Given the description of an element on the screen output the (x, y) to click on. 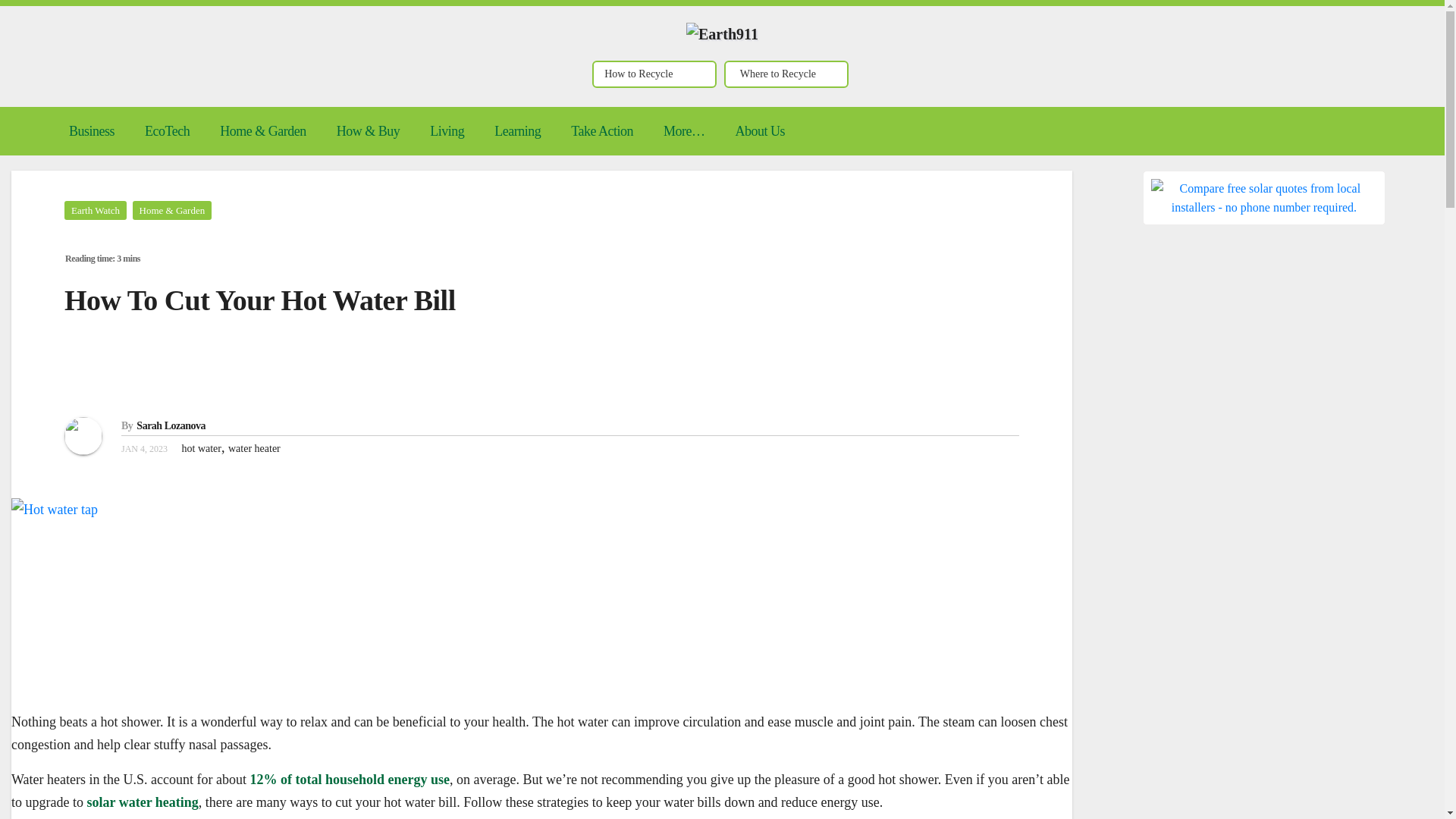
Earth Watch (95, 210)
Home (38, 120)
Take Action (601, 131)
EcoTech (167, 131)
Business (91, 131)
About Us (759, 131)
Take Action (601, 131)
Learning (517, 131)
Living (446, 131)
EcoTech (167, 131)
Learning (517, 131)
water heater (254, 448)
Business (91, 131)
Where to Recycle (785, 73)
Sarah Lozanova (170, 425)
